Given the description of an element on the screen output the (x, y) to click on. 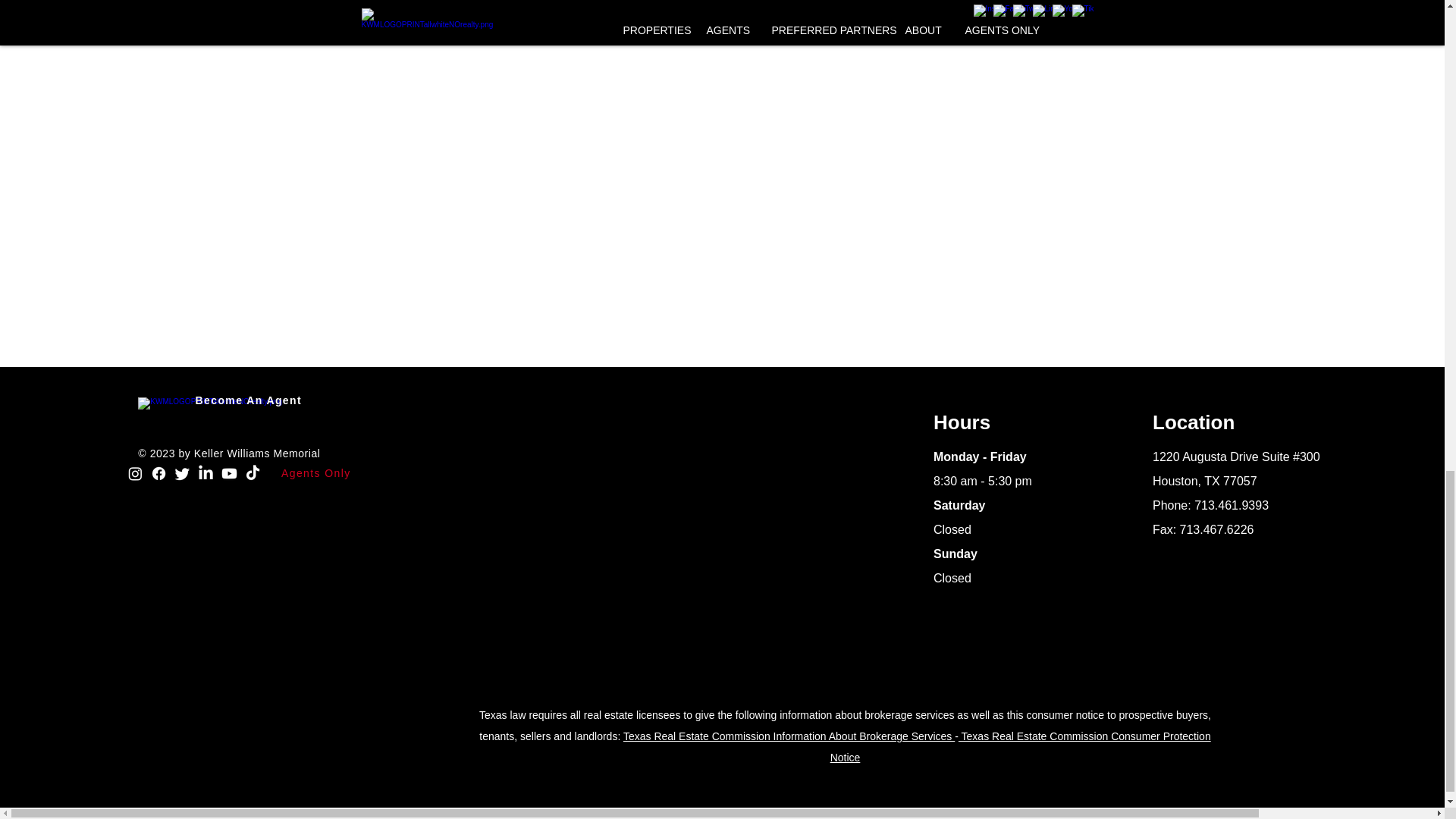
713.461.9393 (1230, 504)
Houston, TX 77057 (1205, 481)
Become An Agent (249, 400)
Agents Only (316, 472)
